Given the description of an element on the screen output the (x, y) to click on. 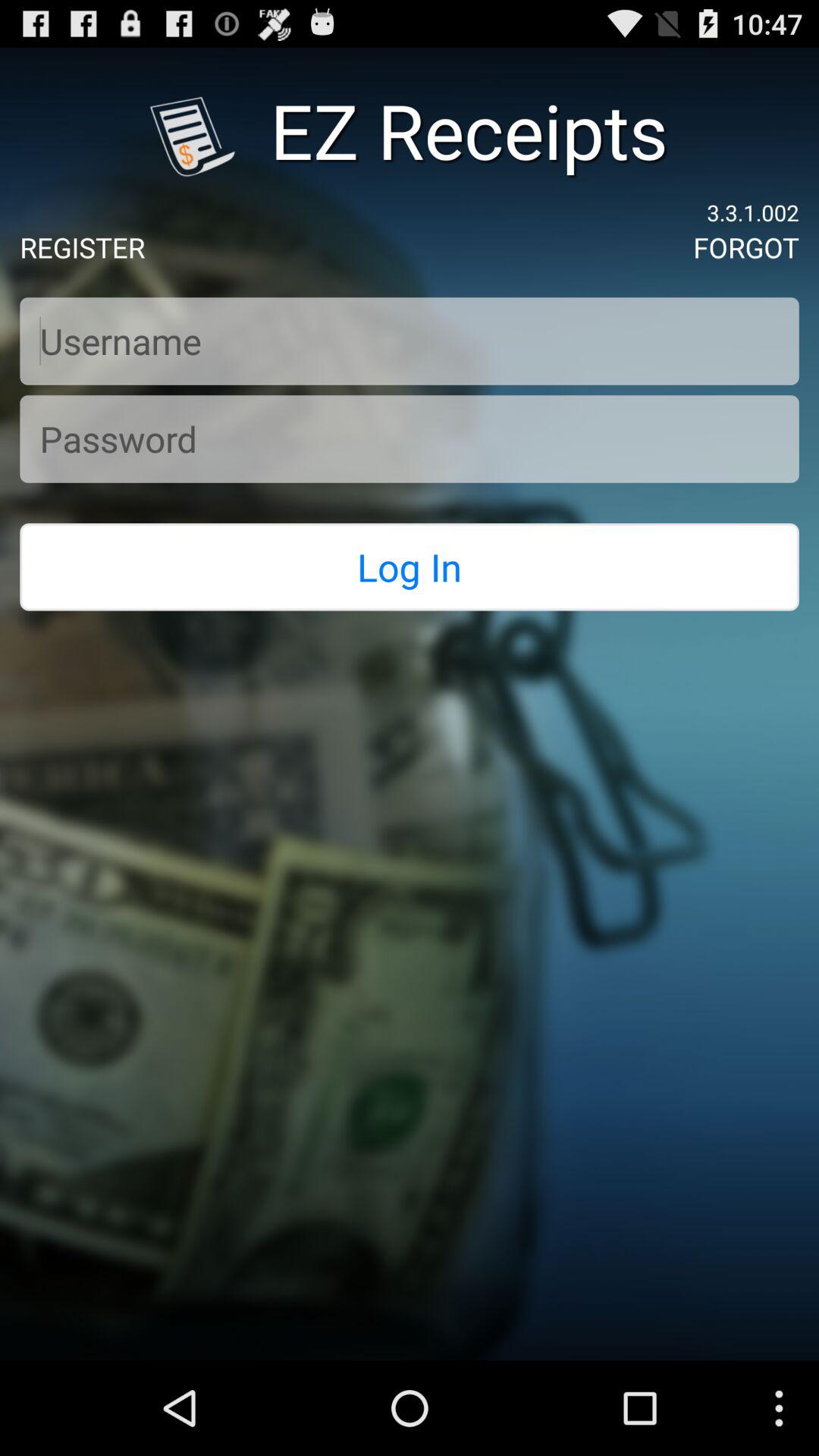
jump until the forgot icon (746, 247)
